Given the description of an element on the screen output the (x, y) to click on. 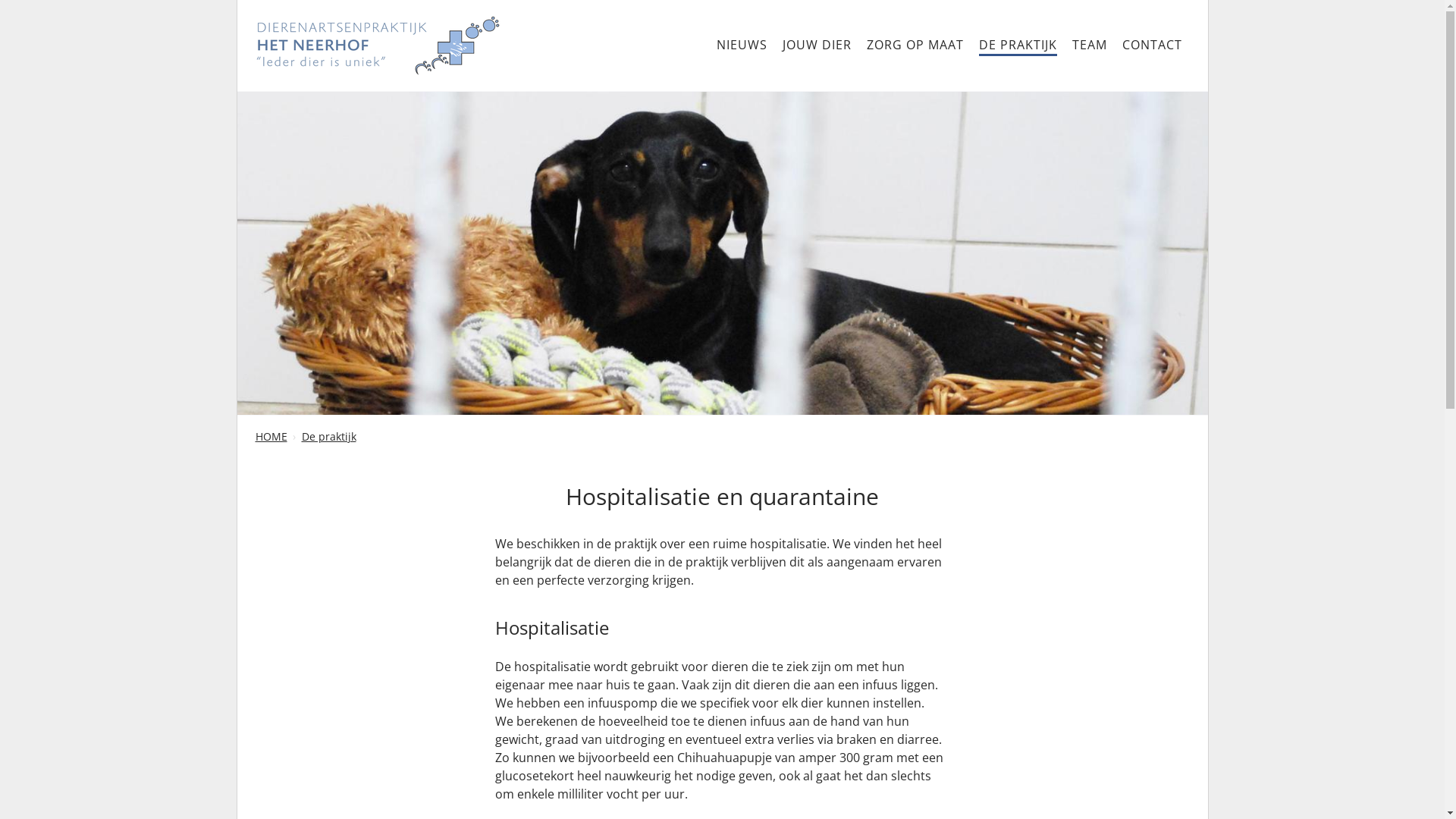
CONTACT Element type: text (1152, 44)
DE PRAKTIJK Element type: text (1017, 44)
TEAM Element type: text (1089, 44)
De praktijk Element type: text (328, 436)
NIEUWS Element type: text (740, 44)
HOME Element type: text (270, 436)
JOUW DIER Element type: text (816, 44)
ZORG OP MAAT Element type: text (914, 44)
